Given the description of an element on the screen output the (x, y) to click on. 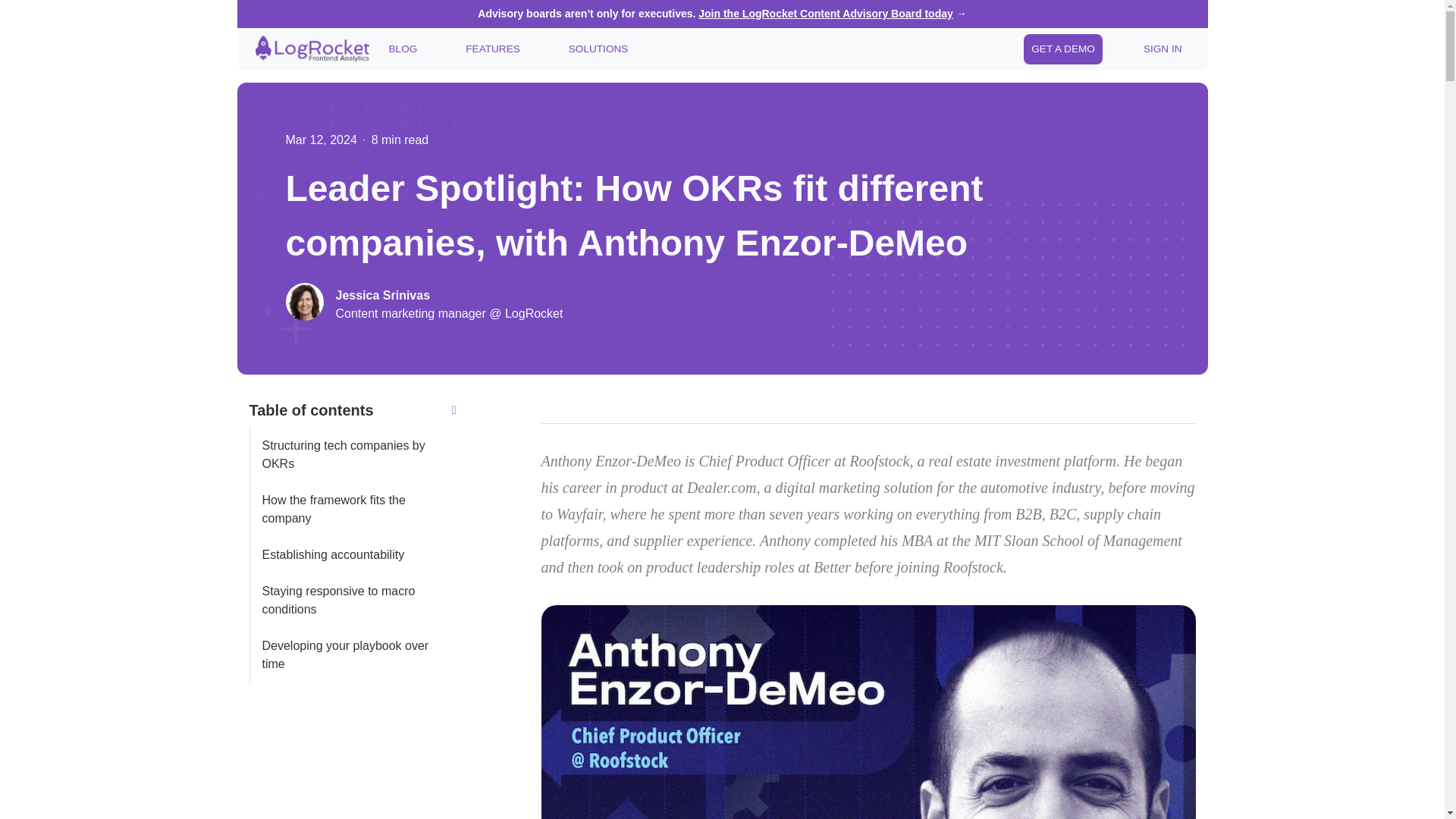
Structuring tech companies by OKRs (351, 454)
BLOG (402, 49)
FEATURES (492, 49)
SIGN IN (1162, 49)
Developing your playbook over time (351, 655)
Staying responsive to macro conditions (351, 600)
SOLUTIONS (598, 49)
Jessica Srinivas (448, 295)
How the framework fits the company (351, 509)
Establishing accountability (351, 555)
